Given the description of an element on the screen output the (x, y) to click on. 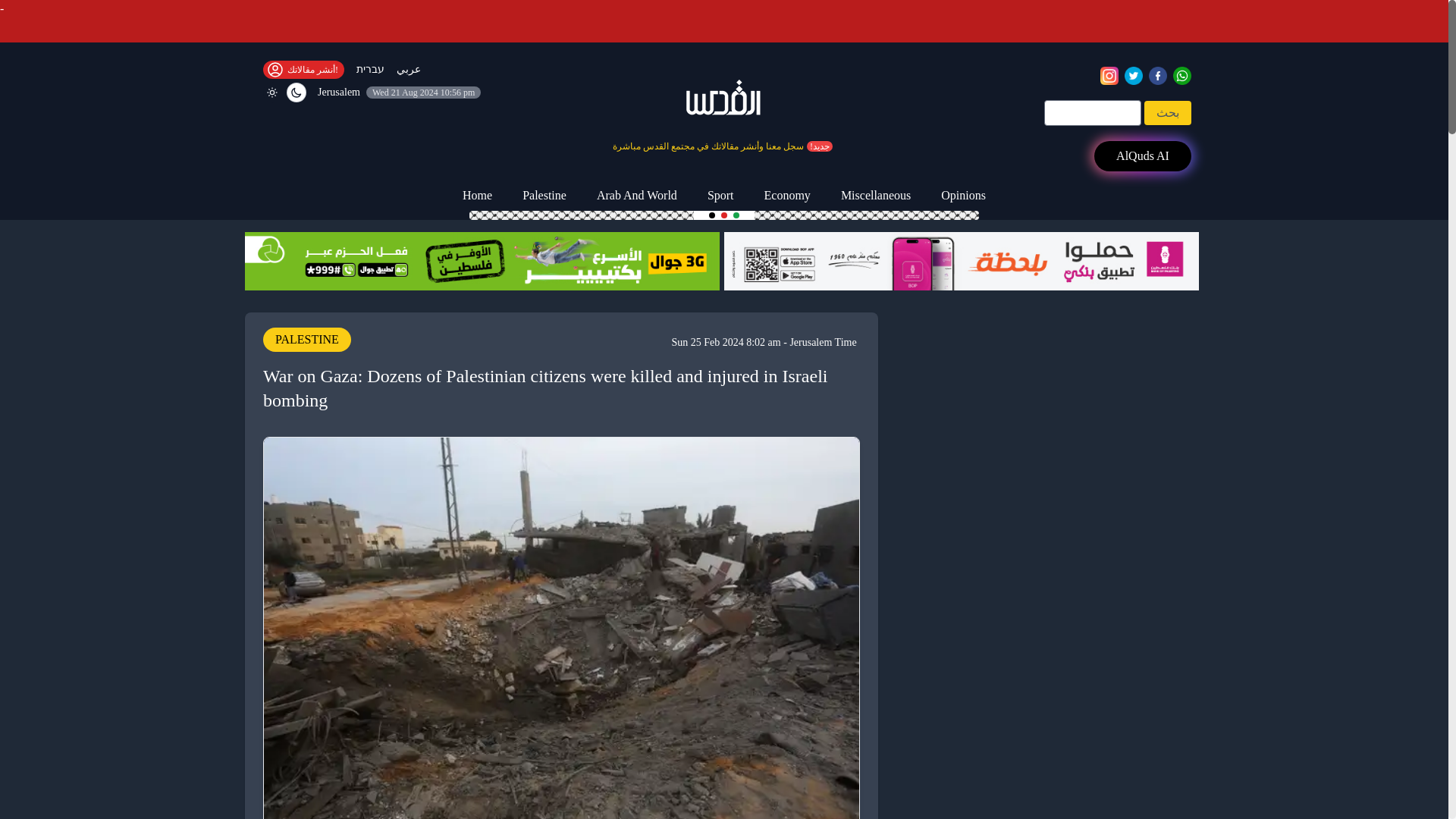
Home (476, 195)
PALESTINE (307, 338)
Arab And World (636, 195)
Miscellaneous (875, 195)
AlQuds AI (1142, 155)
Sport (720, 195)
Palestine (544, 195)
Opinions (962, 195)
Economy (787, 195)
